Given the description of an element on the screen output the (x, y) to click on. 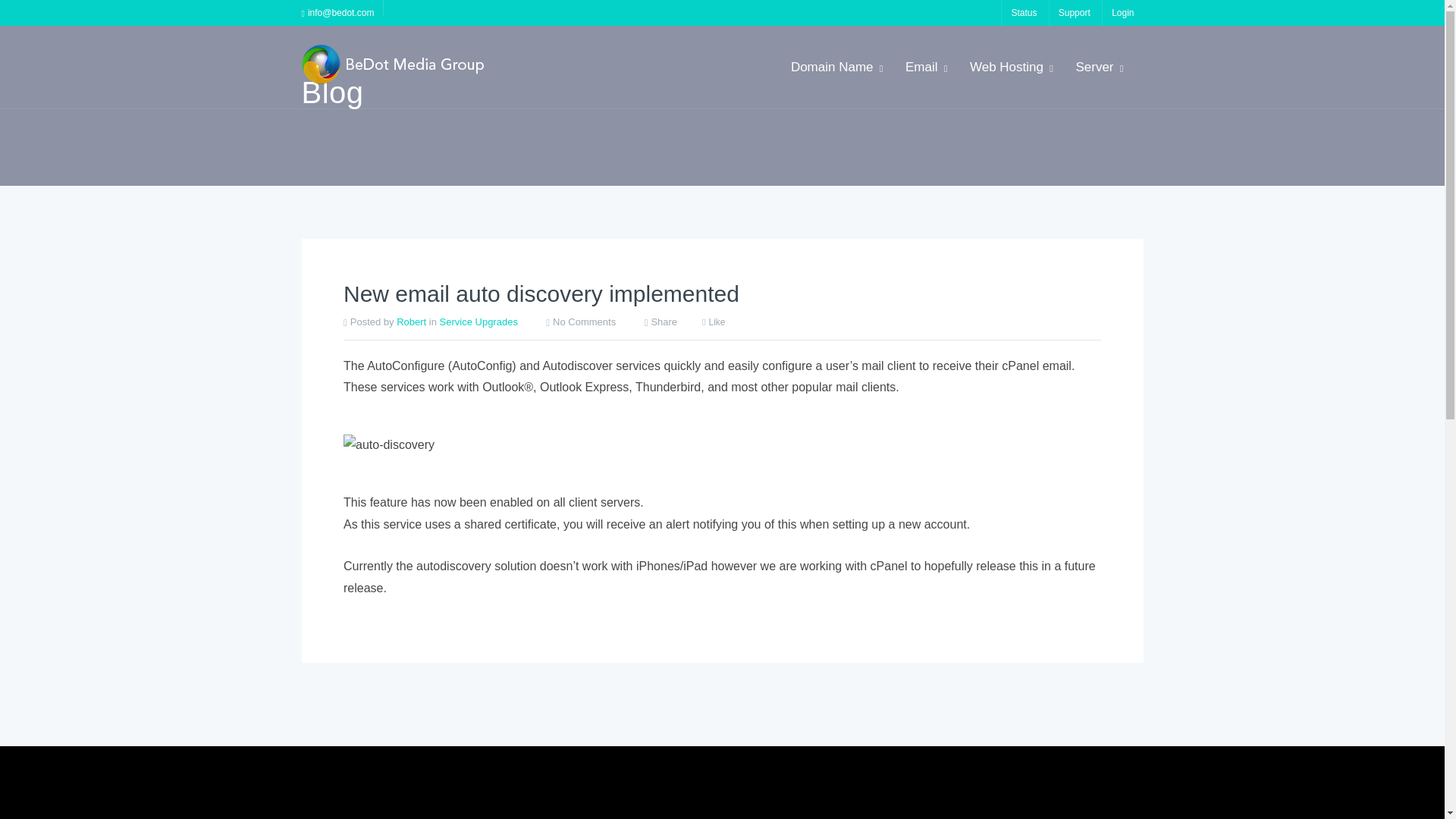
Support (1073, 12)
Domain Name (835, 66)
Status (1023, 12)
New email auto discovery implemented (541, 403)
Server (1098, 66)
Like (713, 432)
Web Hosting (1010, 66)
Email (924, 66)
Robert (411, 431)
Like (713, 432)
Service Upgrades (478, 431)
Login (1122, 12)
